Given the description of an element on the screen output the (x, y) to click on. 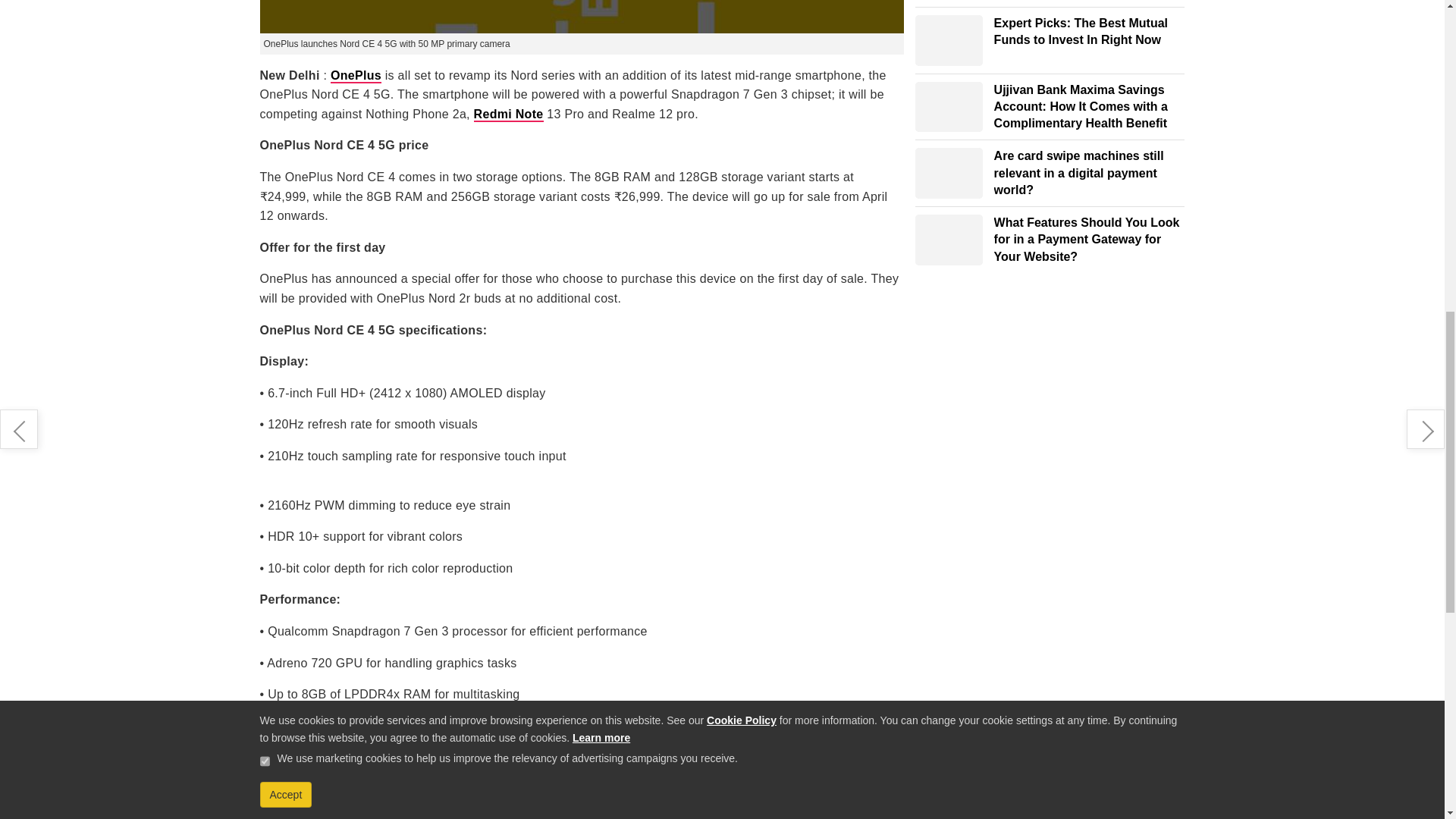
Expert Picks: The Best Mutual Funds to Invest In Right Now (948, 40)
OnePlus (355, 75)
Redmi Note (508, 114)
OnePlus launches Nord CE 4 5G with 50 MP primary camera (580, 16)
